Given the description of an element on the screen output the (x, y) to click on. 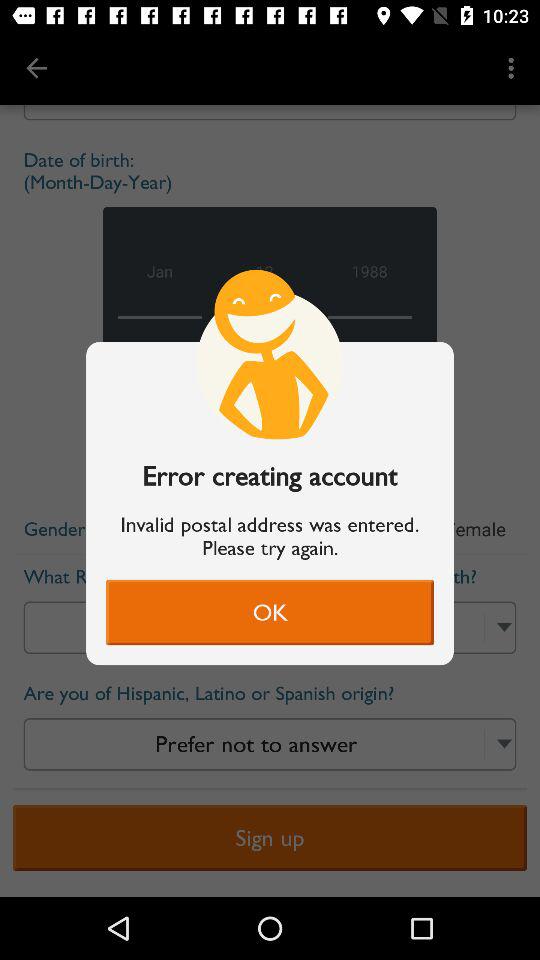
flip to ok (269, 612)
